Given the description of an element on the screen output the (x, y) to click on. 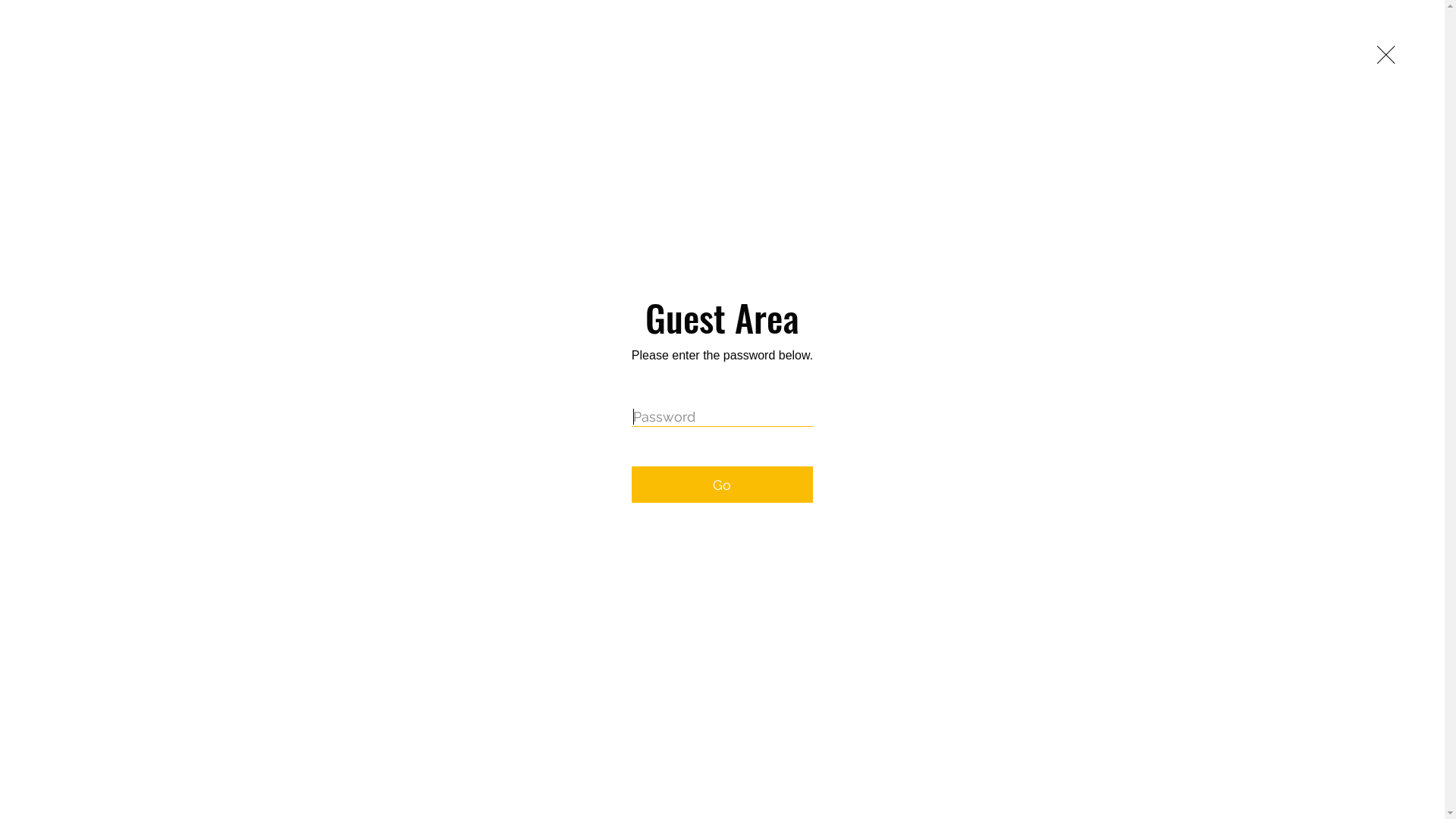
Go Element type: text (721, 484)
